Given the description of an element on the screen output the (x, y) to click on. 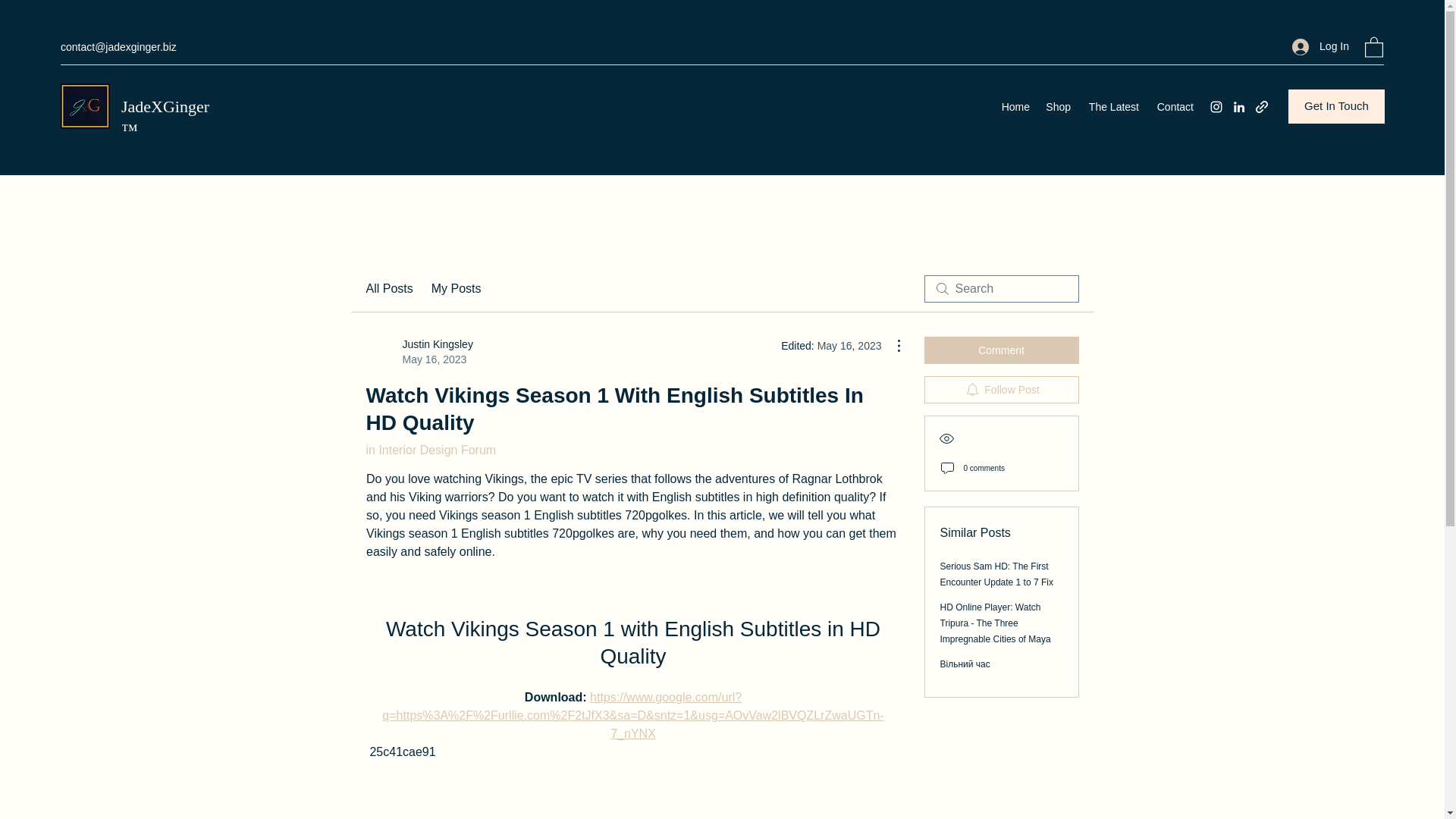
Serious Sam HD: The First Encounter Update 1 to 7 Fix (996, 574)
Log In (1320, 46)
in Interior Design Forum (430, 449)
Home (1014, 106)
My Posts (418, 351)
Follow Post (455, 289)
All Posts (1000, 389)
Shop (388, 289)
The Latest (1057, 106)
Comment (1112, 106)
Contact (1000, 349)
Get In Touch (1174, 106)
